Given the description of an element on the screen output the (x, y) to click on. 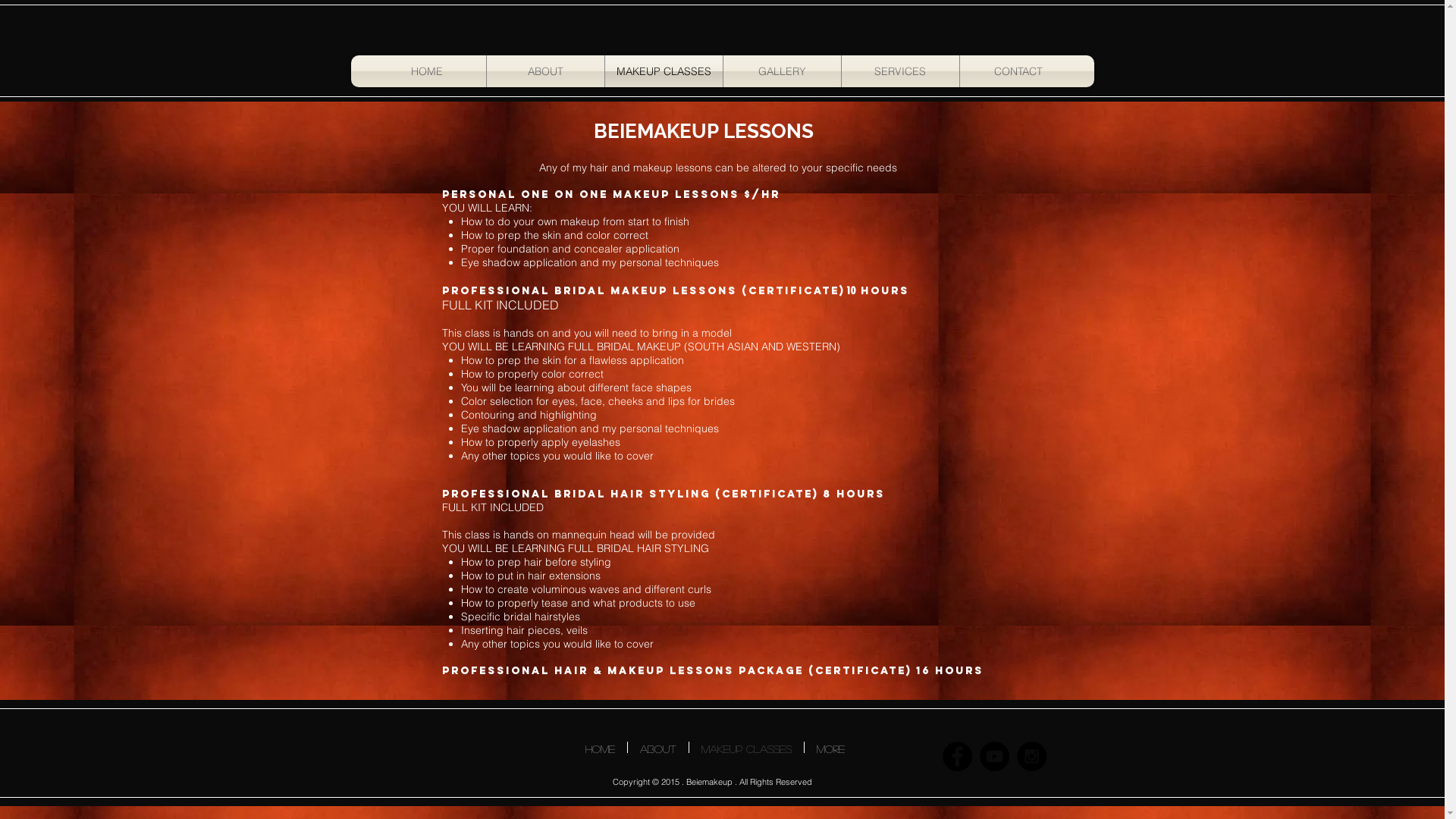
MAKEUP CLASSES Element type: text (663, 71)
HOME Element type: text (600, 747)
GALLERY Element type: text (781, 71)
HOME Element type: text (426, 71)
ABOUT Element type: text (545, 71)
ABOUT Element type: text (657, 747)
CONTACT Element type: text (1018, 71)
SERVICES Element type: text (900, 71)
MAKEUP CLASSES Element type: text (745, 747)
